Given the description of an element on the screen output the (x, y) to click on. 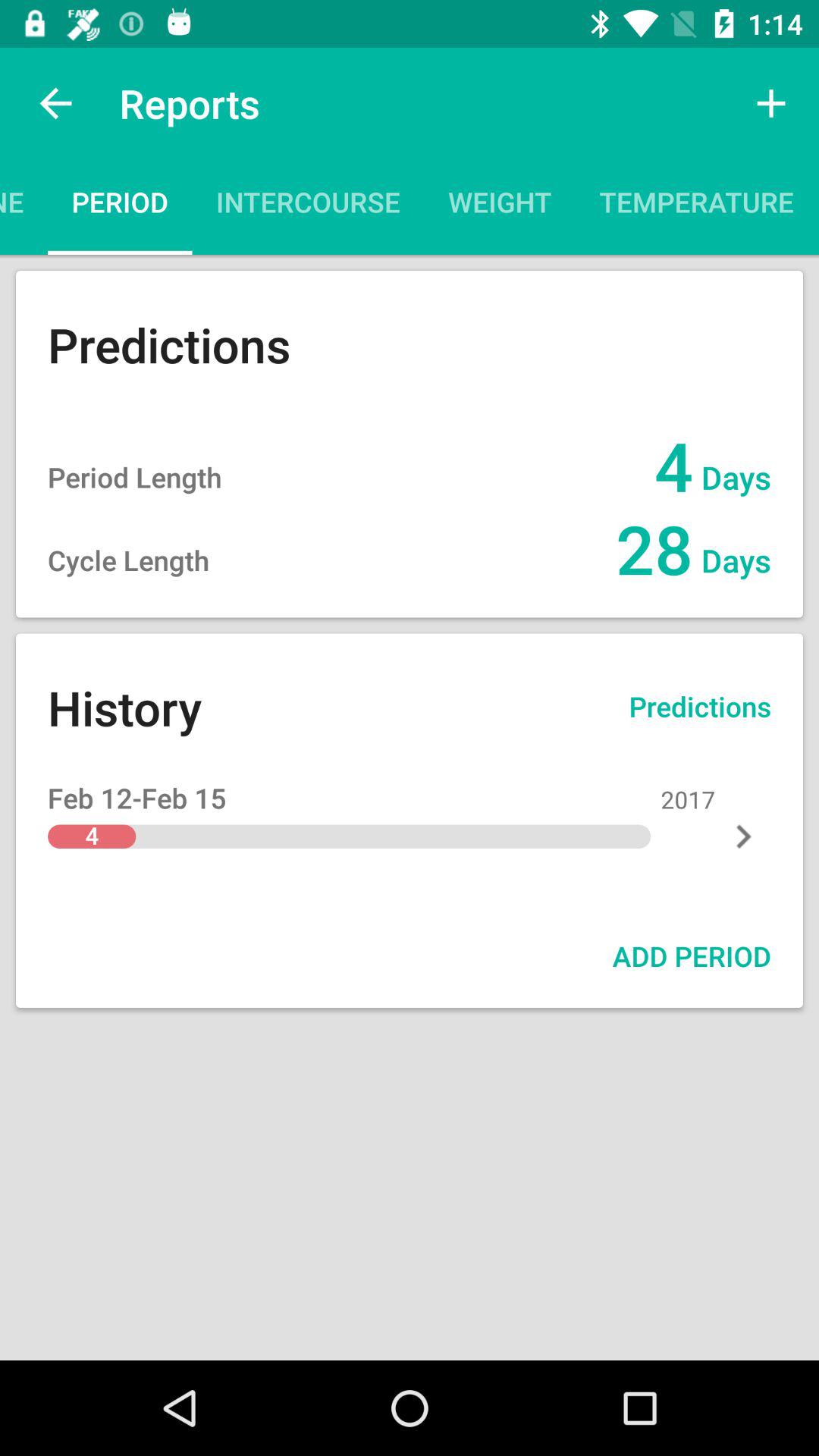
tap the icon next to period icon (23, 206)
